Given the description of an element on the screen output the (x, y) to click on. 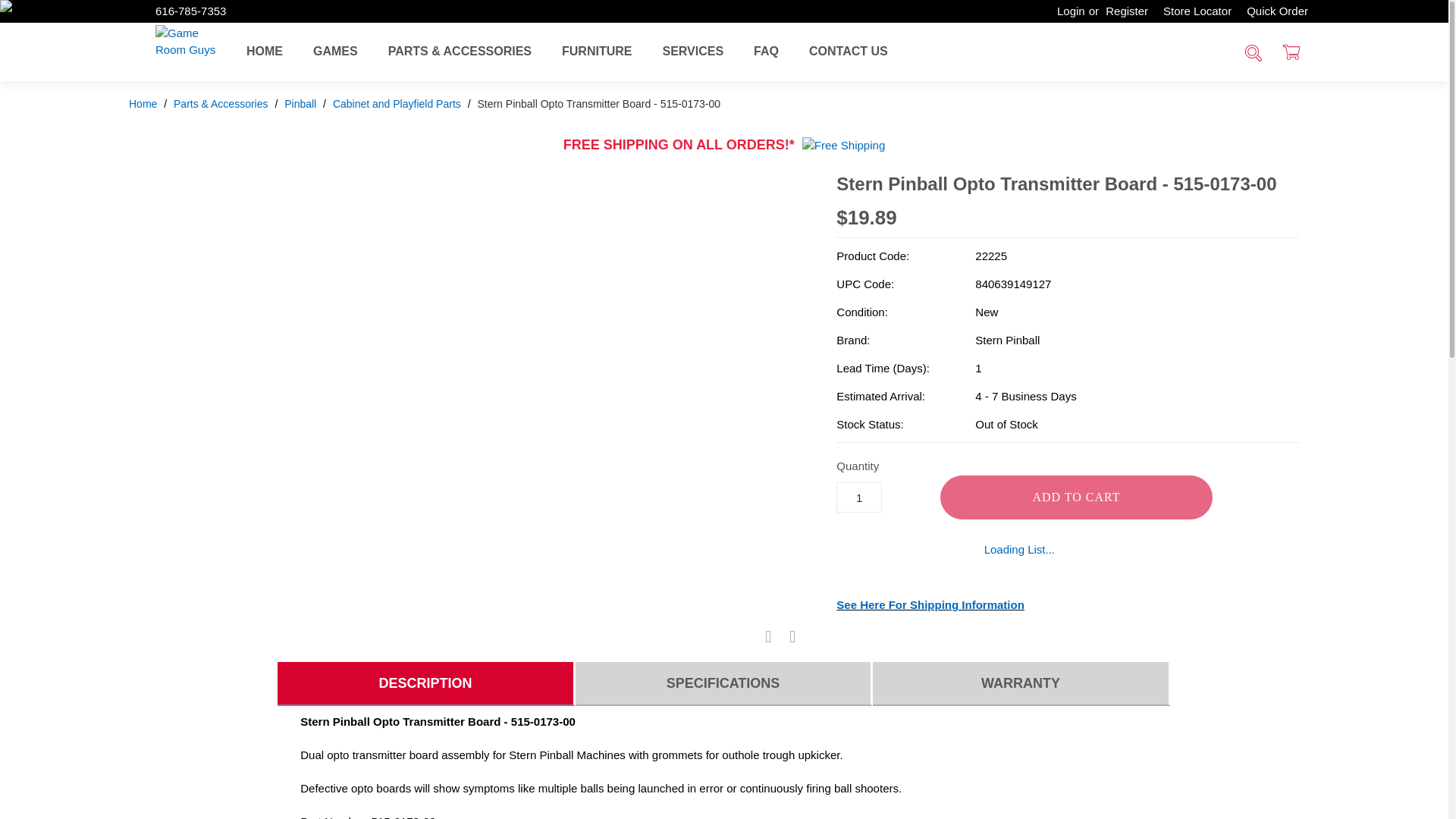
1 (858, 497)
Quick Order (1277, 11)
Game Room Guys SCS (187, 49)
616-785-7353 (190, 11)
Quick Order (1277, 11)
Login (1066, 11)
Cart (1291, 53)
GAMES (335, 51)
Register (1130, 11)
Store Locator (1197, 11)
